Given the description of an element on the screen output the (x, y) to click on. 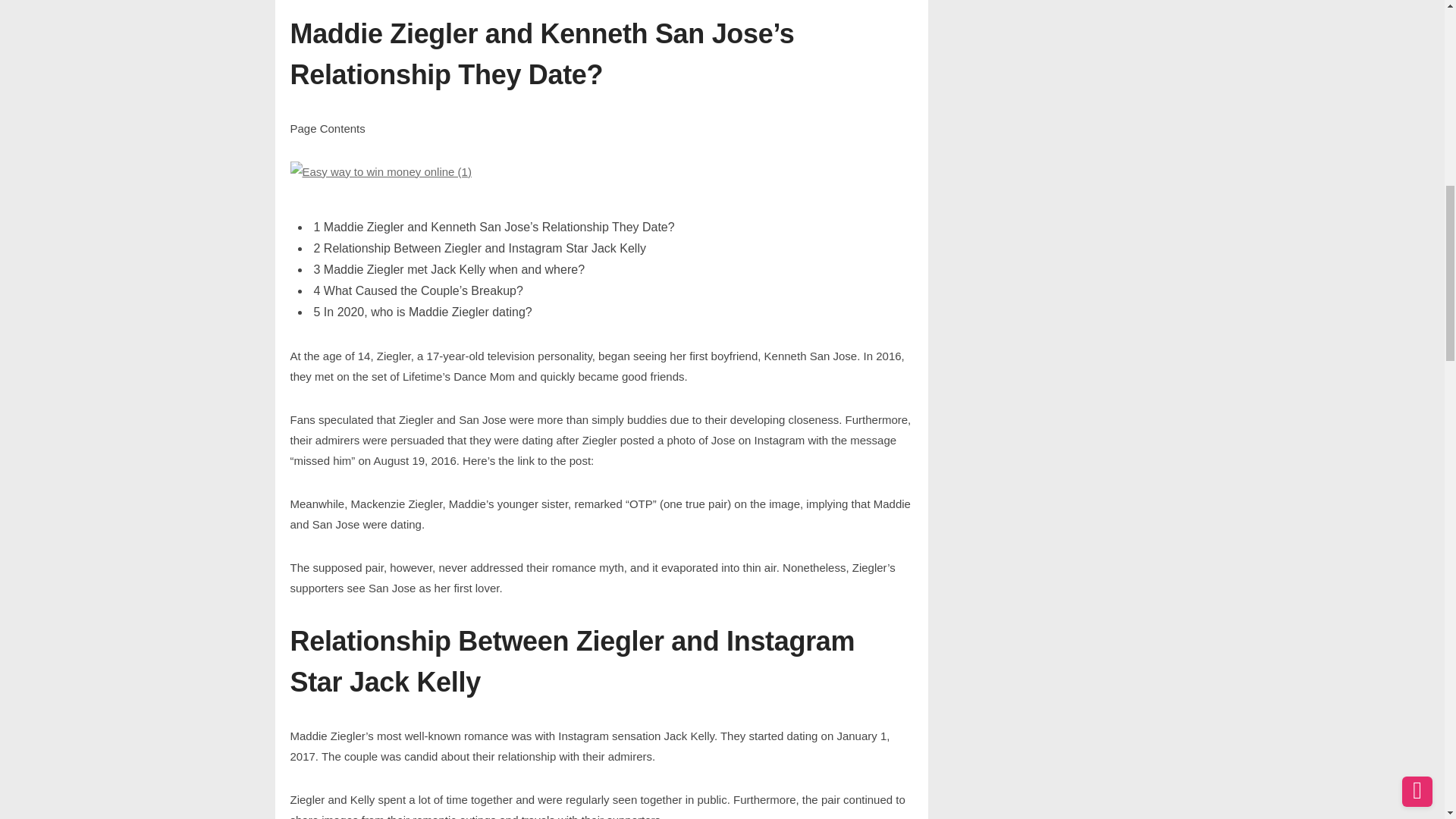
2 Relationship Between Ziegler and Instagram Star Jack Kelly (480, 248)
5 In 2020, who is Maddie Ziegler dating? (423, 312)
3 Maddie Ziegler met Jack Kelly when and where? (449, 269)
